Given the description of an element on the screen output the (x, y) to click on. 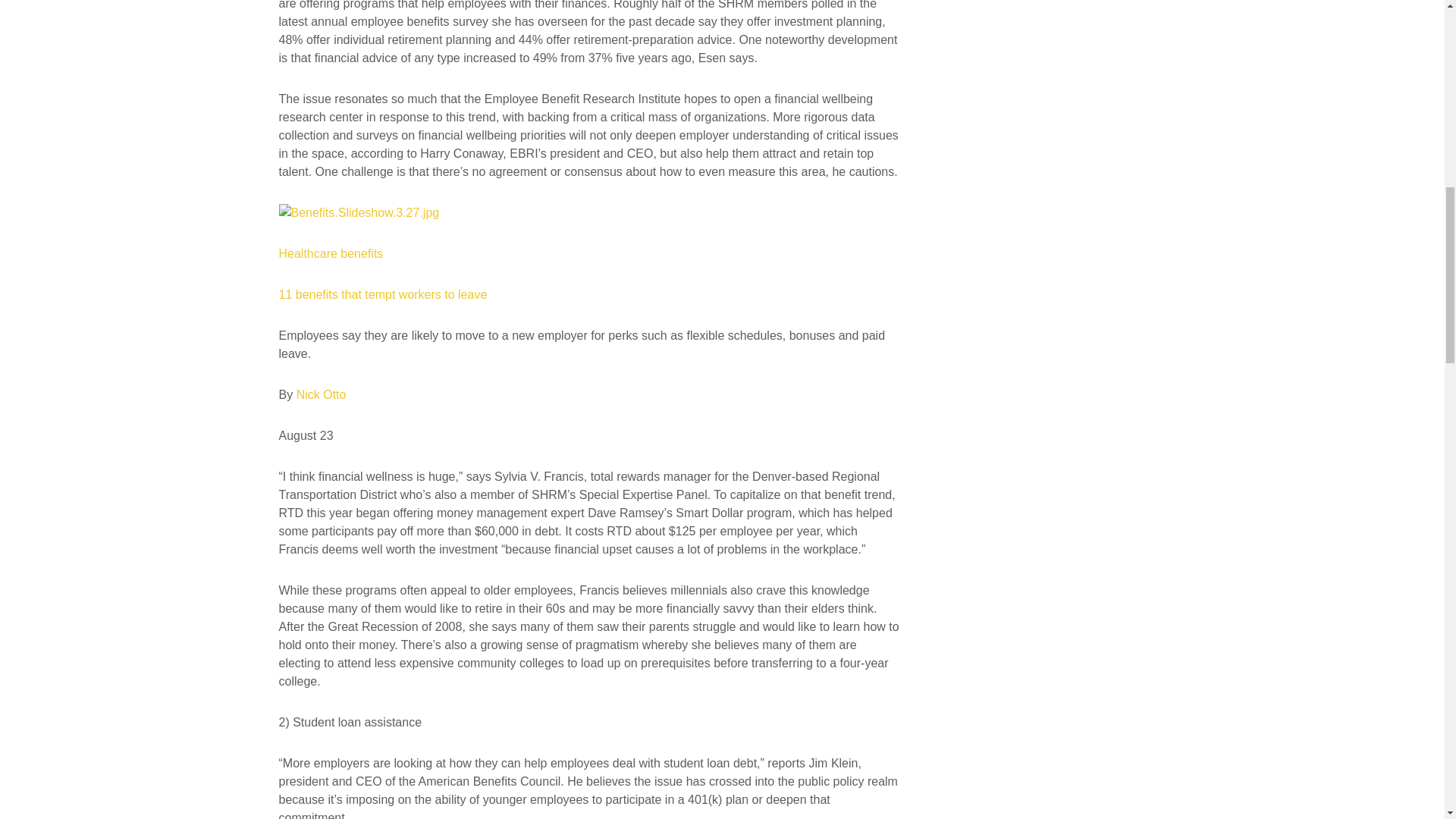
Healthcare benefits (331, 253)
Nick Otto (321, 394)
11 benefits that tempt workers to leave (383, 294)
